Given the description of an element on the screen output the (x, y) to click on. 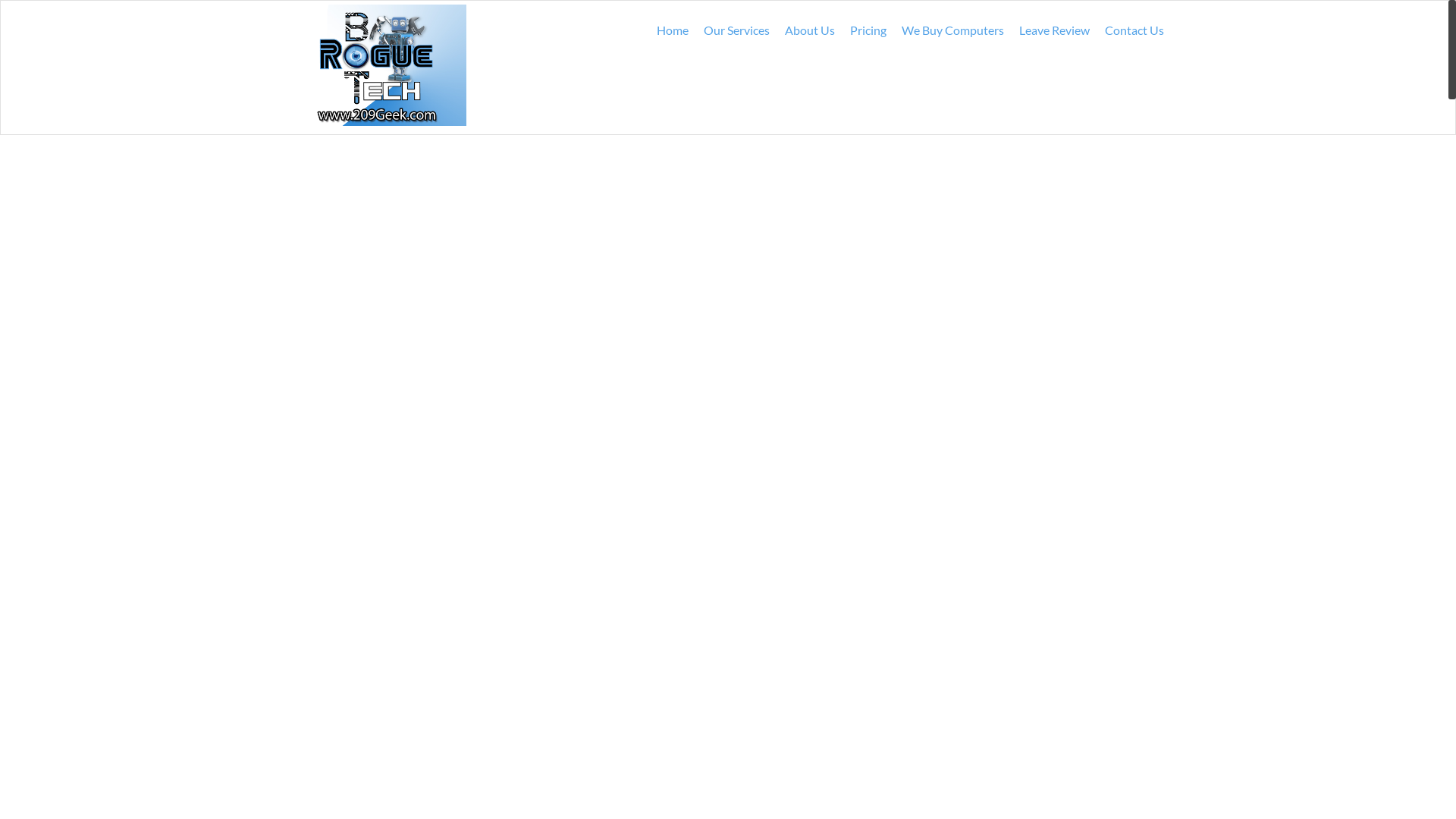
Contact Us Element type: text (1134, 30)
Leave Review Element type: text (1054, 30)
Pricing Element type: text (868, 30)
Home Element type: text (672, 30)
We Buy Computers Element type: text (952, 30)
Our Services Element type: text (736, 30)
About Us Element type: text (809, 30)
